Given the description of an element on the screen output the (x, y) to click on. 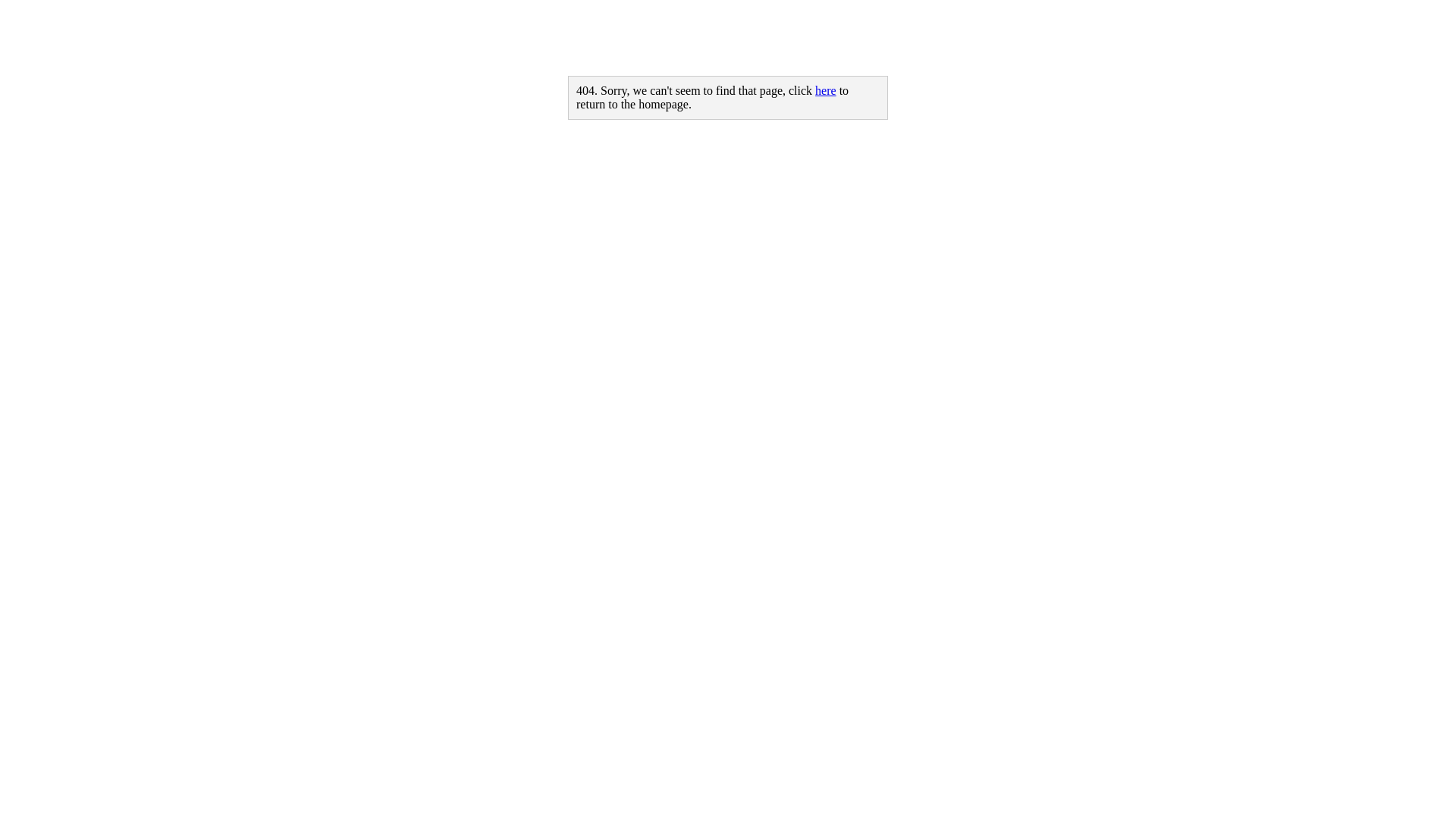
here Element type: text (825, 90)
